Given the description of an element on the screen output the (x, y) to click on. 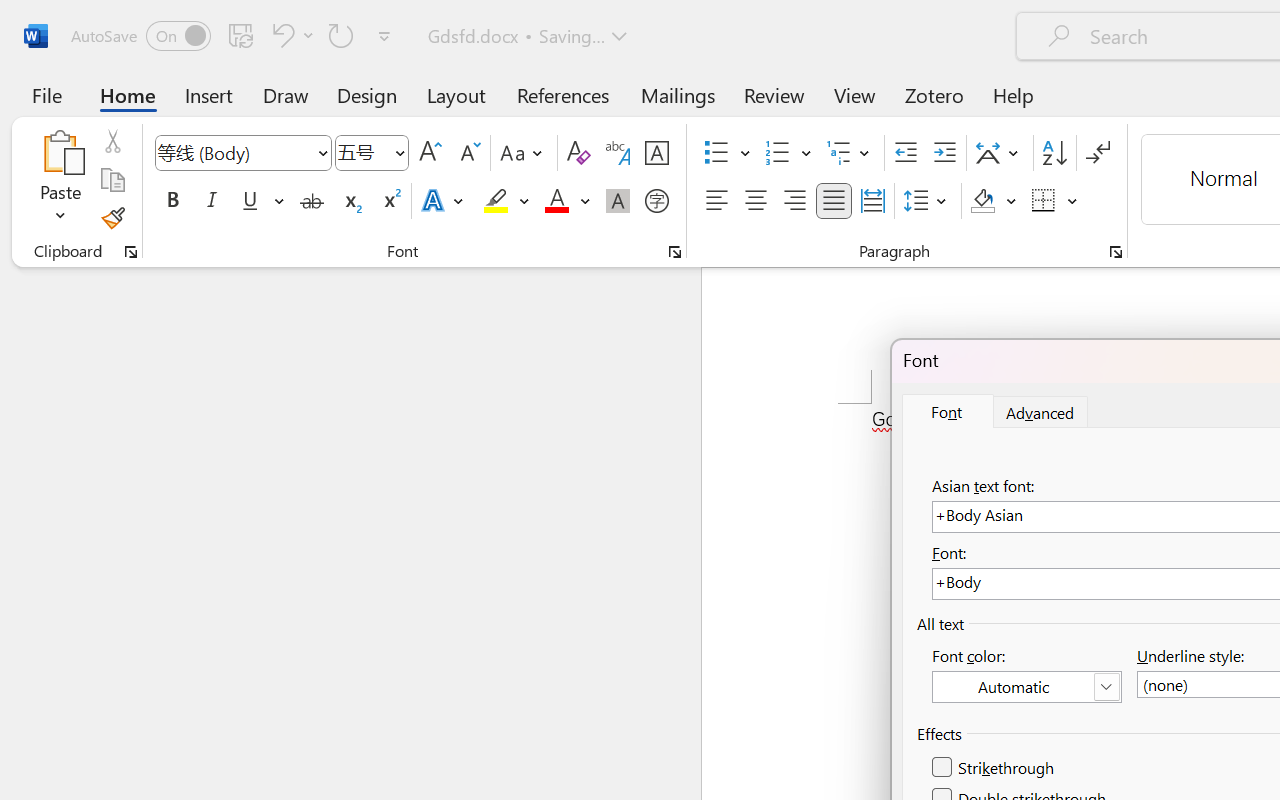
Strikethrough (994, 767)
Text Effects and Typography (444, 201)
Align Left (716, 201)
Font Color Red (556, 201)
Font... (675, 252)
Format Painter (112, 218)
Clear Formatting (578, 153)
Shading (993, 201)
Asian Layout (1000, 153)
Decrease Indent (906, 153)
